Given the description of an element on the screen output the (x, y) to click on. 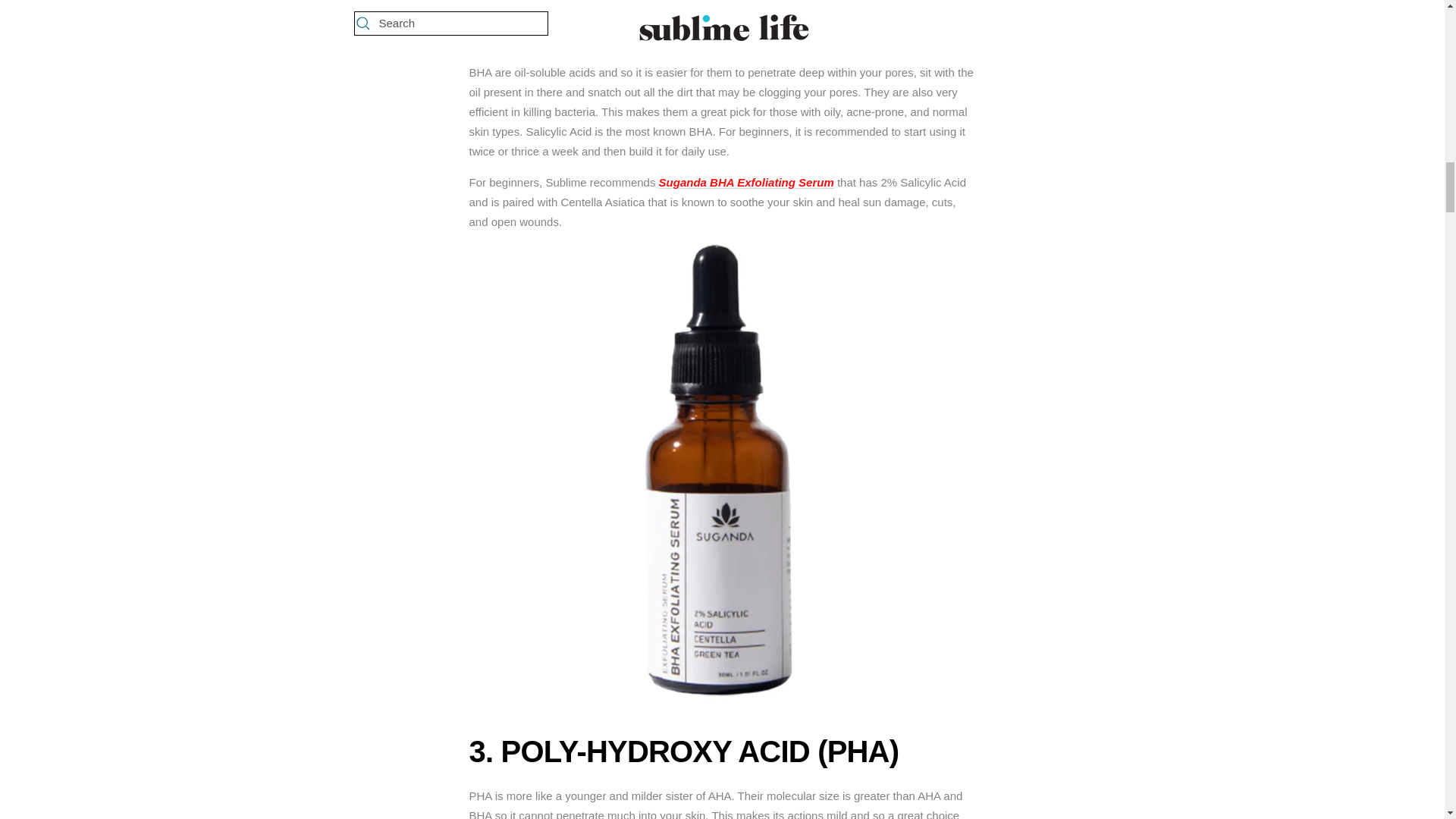
Suganda BHA Exfoliating Serum (746, 182)
Suganda BHA Exfoliating Serum on www.sublimelife.in (722, 252)
Suganda BHA Exfoliating Serum on www.sublimelife.in (746, 182)
